Given the description of an element on the screen output the (x, y) to click on. 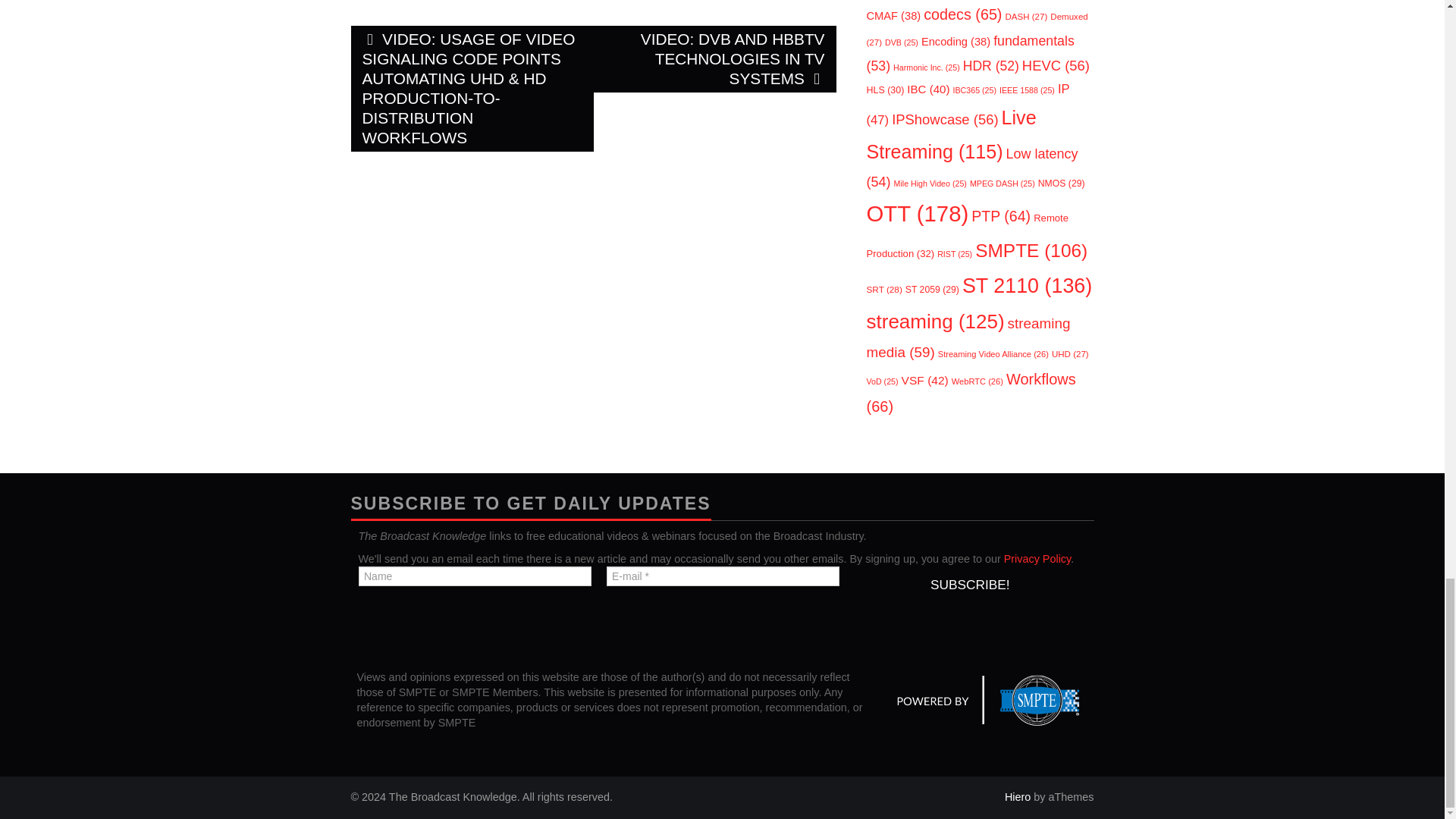
Subscribe! (969, 584)
VIDEO: DVB AND HBBTV TECHNOLOGIES IN TV SYSTEMS (713, 58)
